Given the description of an element on the screen output the (x, y) to click on. 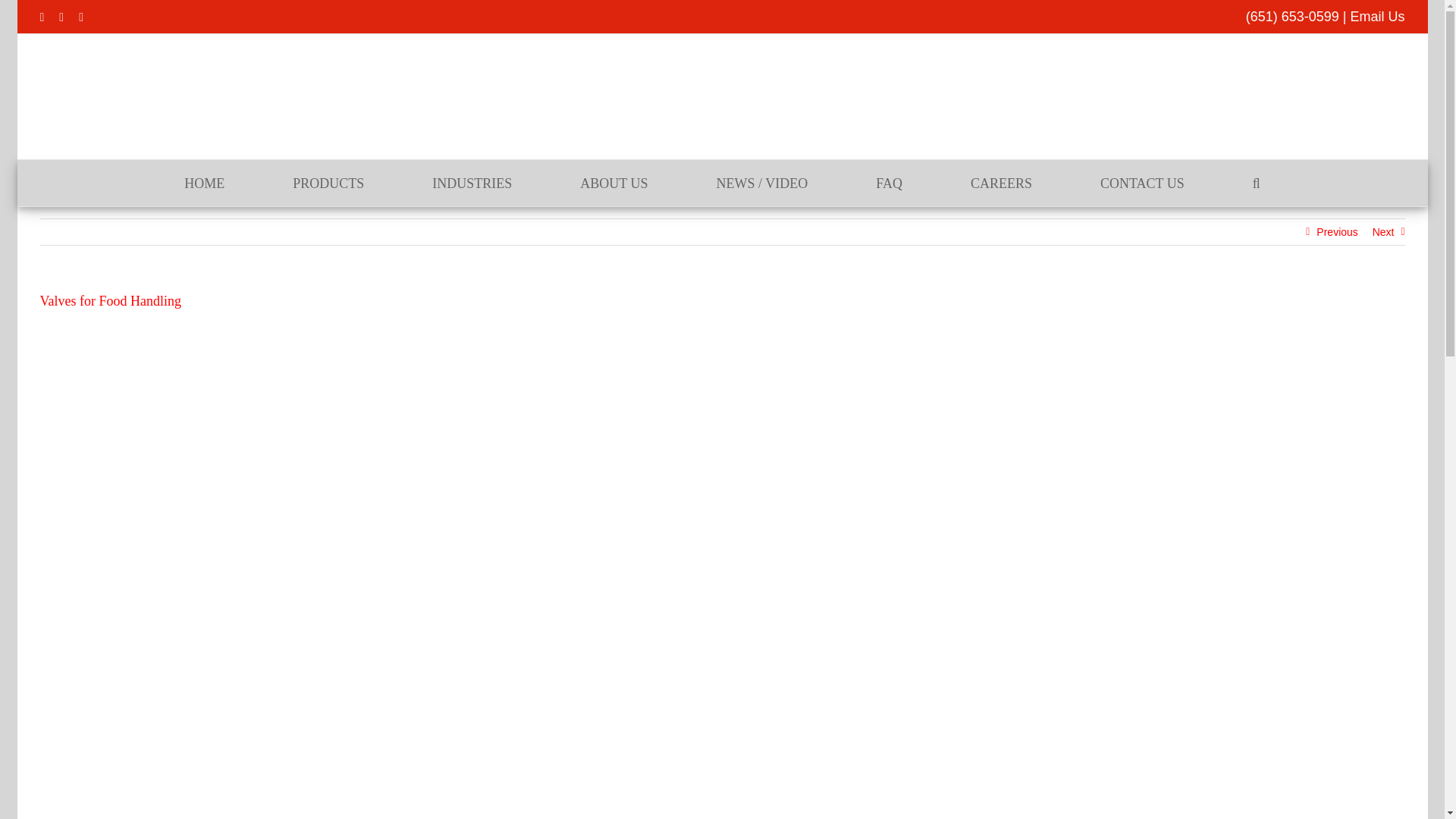
Email Us (1377, 16)
ABOUT US (613, 182)
INDUSTRIES (472, 182)
PRODUCTS (328, 182)
